Given the description of an element on the screen output the (x, y) to click on. 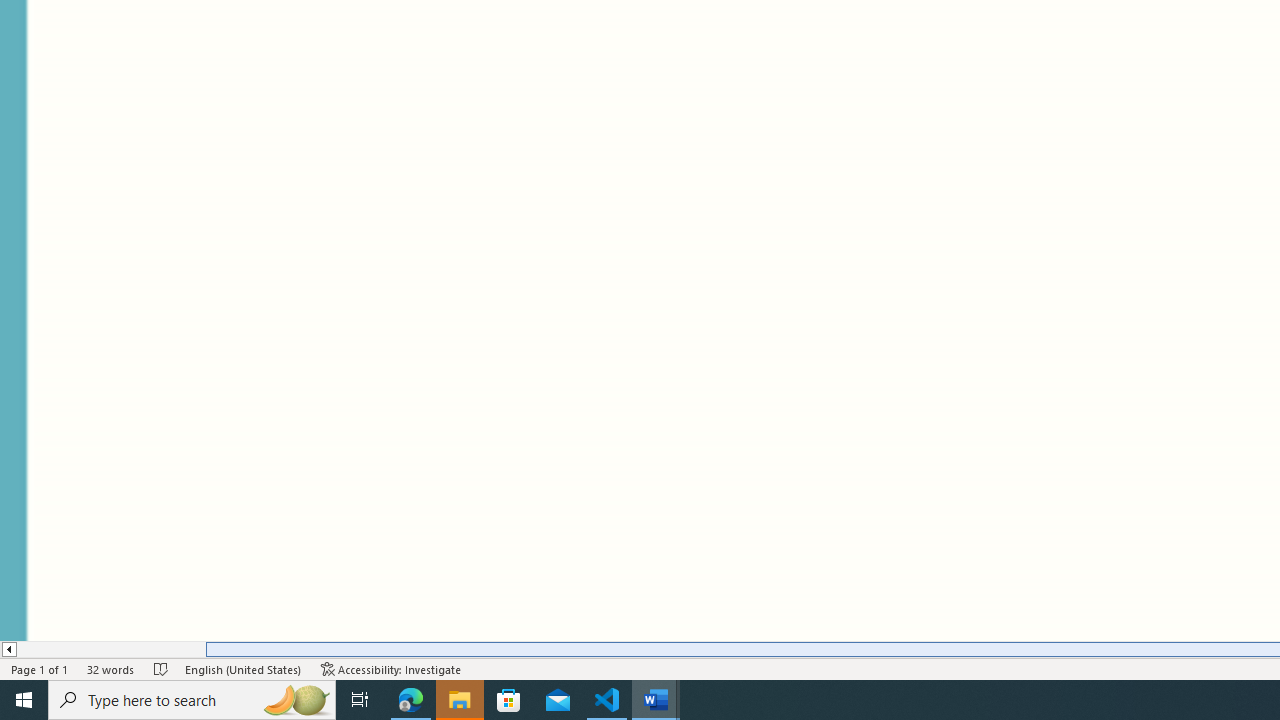
Page Number Page 1 of 1 (39, 668)
Language English (United States) (243, 668)
Word Count 32 words (111, 668)
Spelling and Grammar Check No Errors (161, 668)
Accessibility Checker Accessibility: Investigate (391, 668)
